Given the description of an element on the screen output the (x, y) to click on. 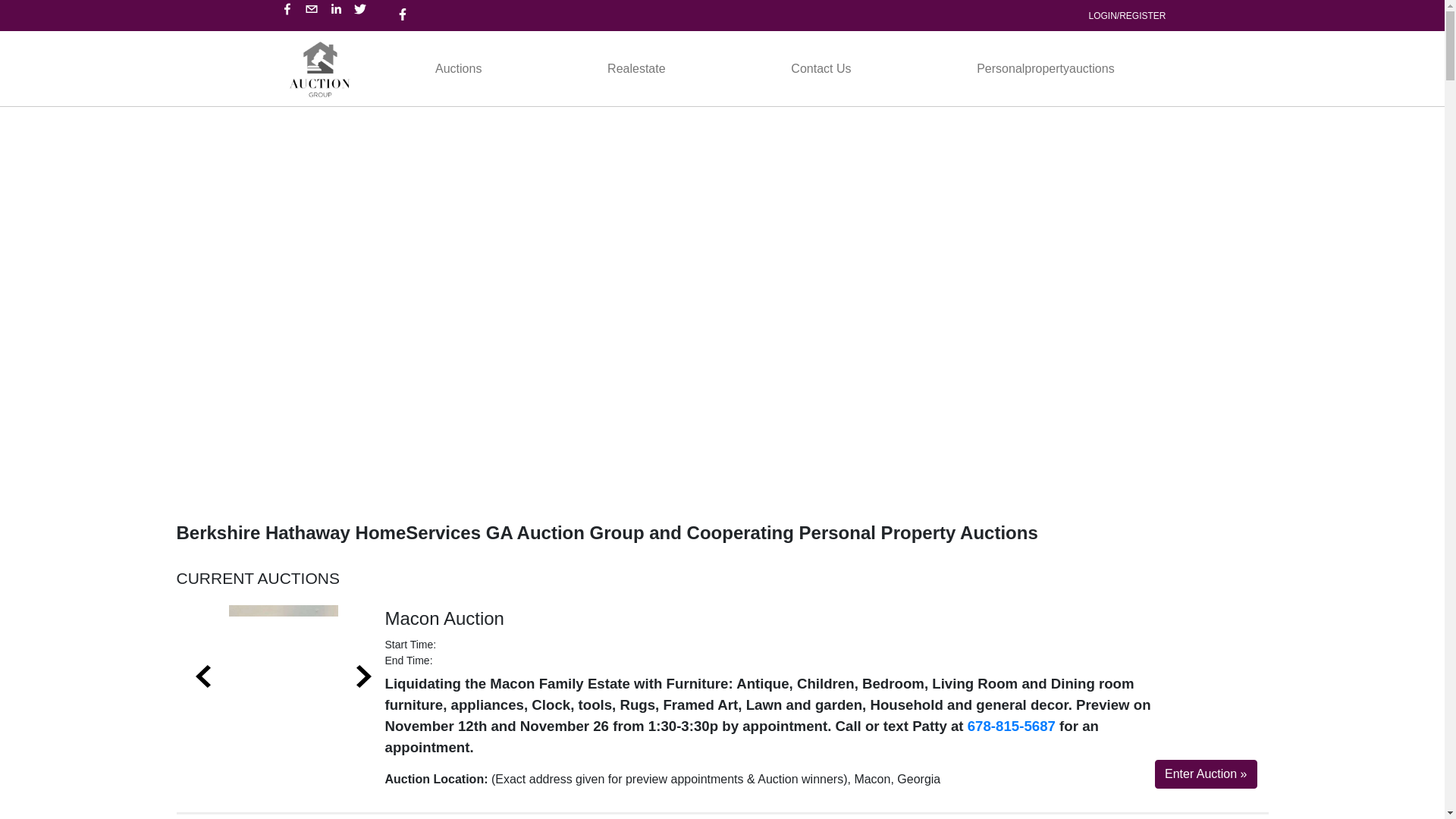
Go to homepage Element type: hover (319, 67)
Login/Register Element type: text (42, 27)
